Given the description of an element on the screen output the (x, y) to click on. 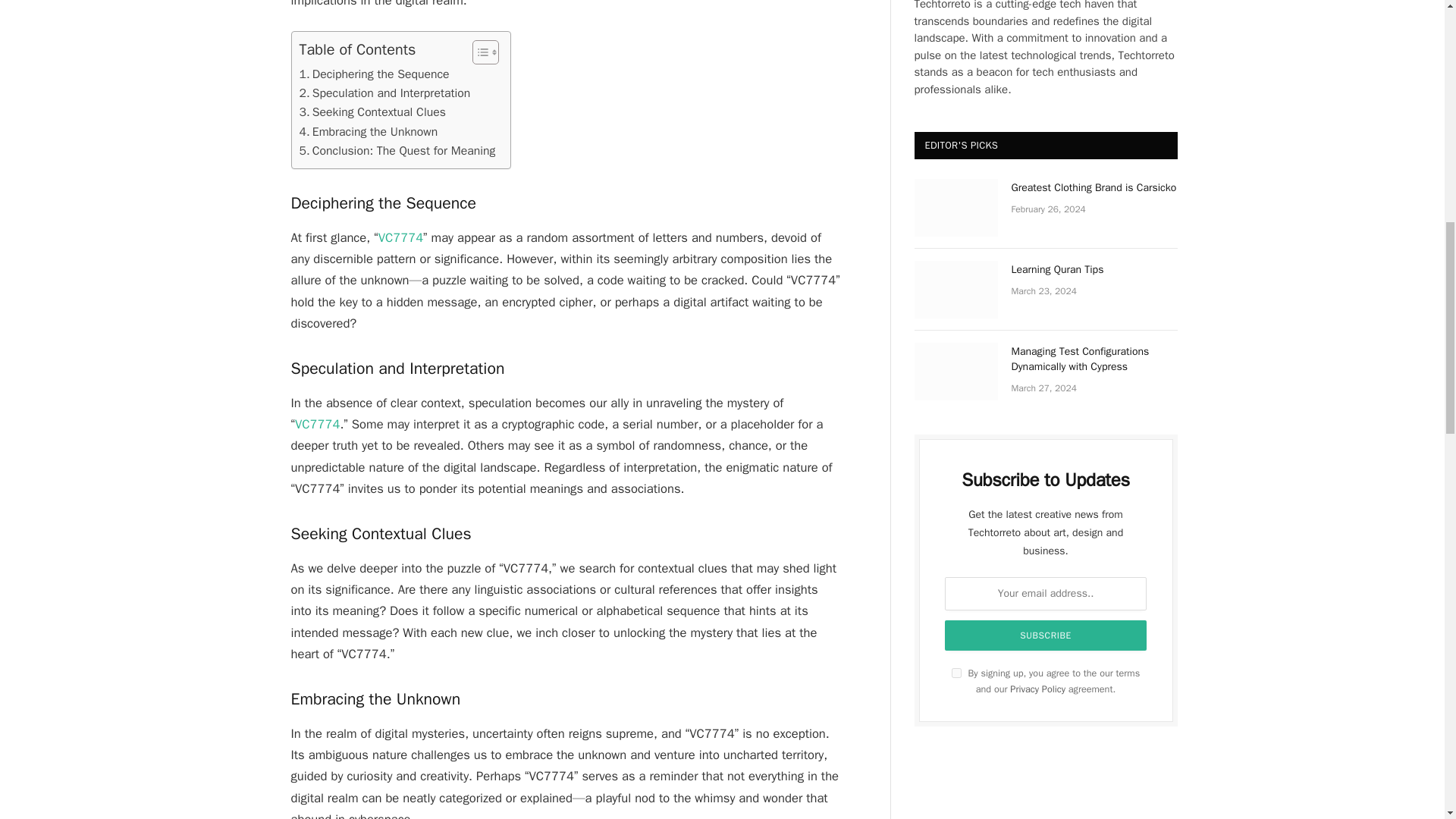
Speculation and Interpretation (384, 93)
Deciphering the Sequence (373, 74)
Speculation and Interpretation (384, 93)
Conclusion: The Quest for Meaning (396, 150)
Deciphering the Sequence (373, 74)
Subscribe (1045, 634)
Seeking Contextual Clues (371, 112)
VC7774 (317, 424)
Conclusion: The Quest for Meaning (396, 150)
on (956, 673)
VC7774 (400, 237)
Embracing the Unknown (368, 131)
Embracing the Unknown (368, 131)
Seeking Contextual Clues (371, 112)
